Given the description of an element on the screen output the (x, y) to click on. 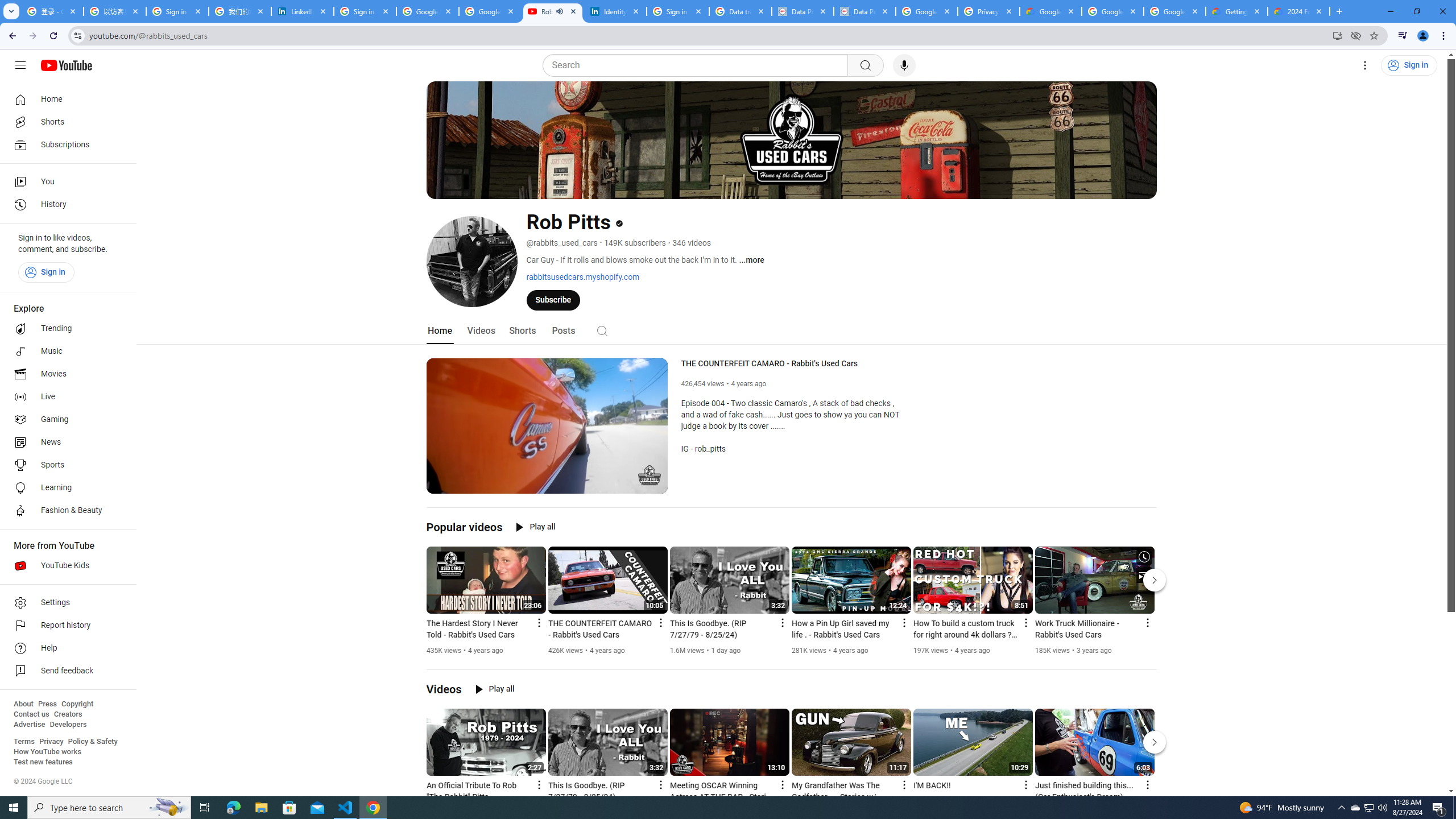
Fashion & Beauty (64, 510)
Shorts (521, 330)
YouTube Home (66, 65)
Action menu (1146, 784)
Guide (20, 65)
Learning (64, 487)
News (64, 441)
Policy & Safety (91, 741)
